Given the description of an element on the screen output the (x, y) to click on. 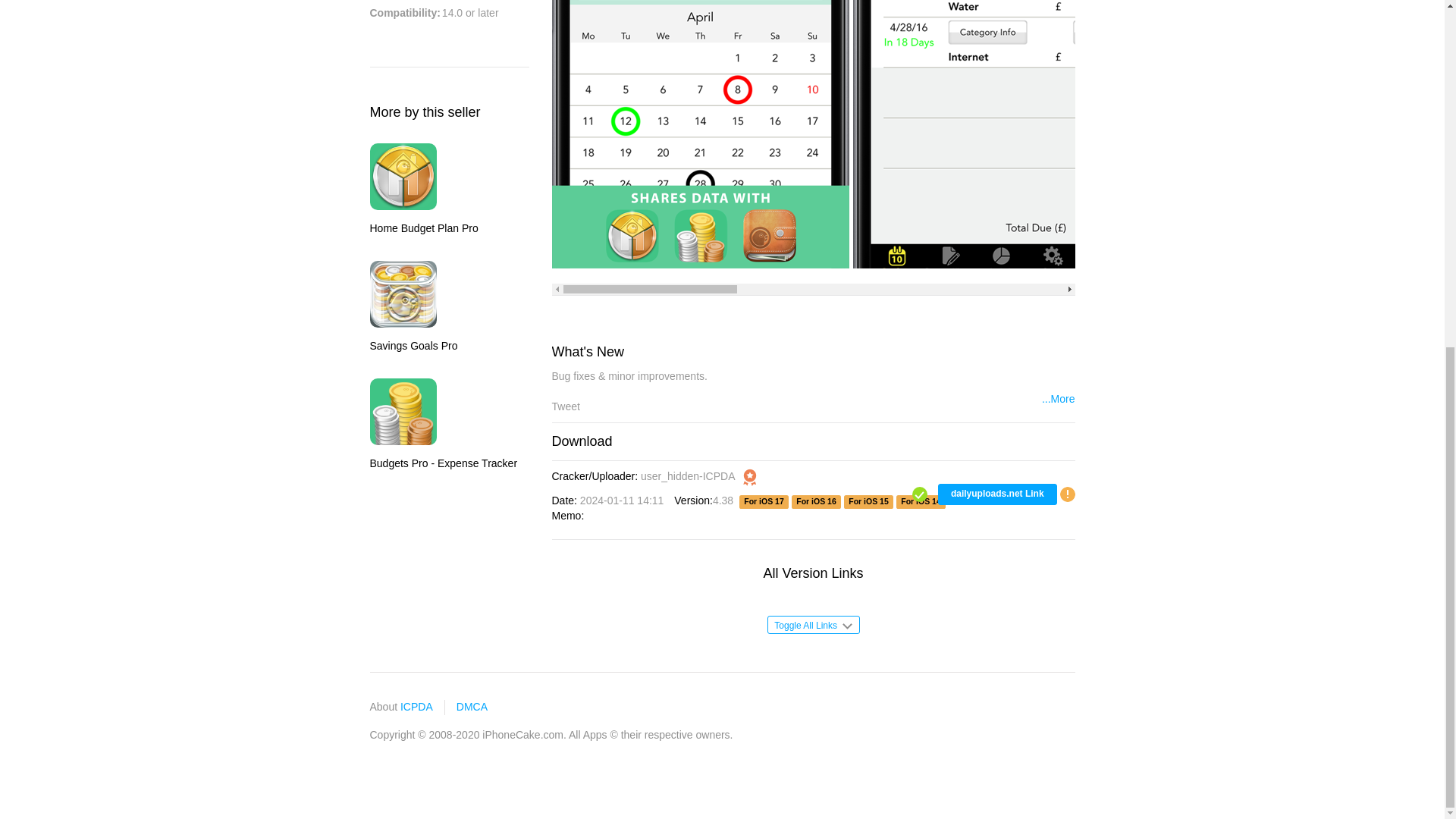
Home Budget Plan Pro (424, 190)
Bill Assistant Pro Screenshots (699, 134)
Toggle All Links   (813, 624)
Tweet (565, 406)
DMCA (472, 707)
Report Dead Link (1067, 492)
You can trust this link! (919, 496)
Budgets Pro - Expense Tracker (402, 411)
Budgets Pro - Expense Tracker (443, 425)
Savings Goals Pro (402, 294)
